Given the description of an element on the screen output the (x, y) to click on. 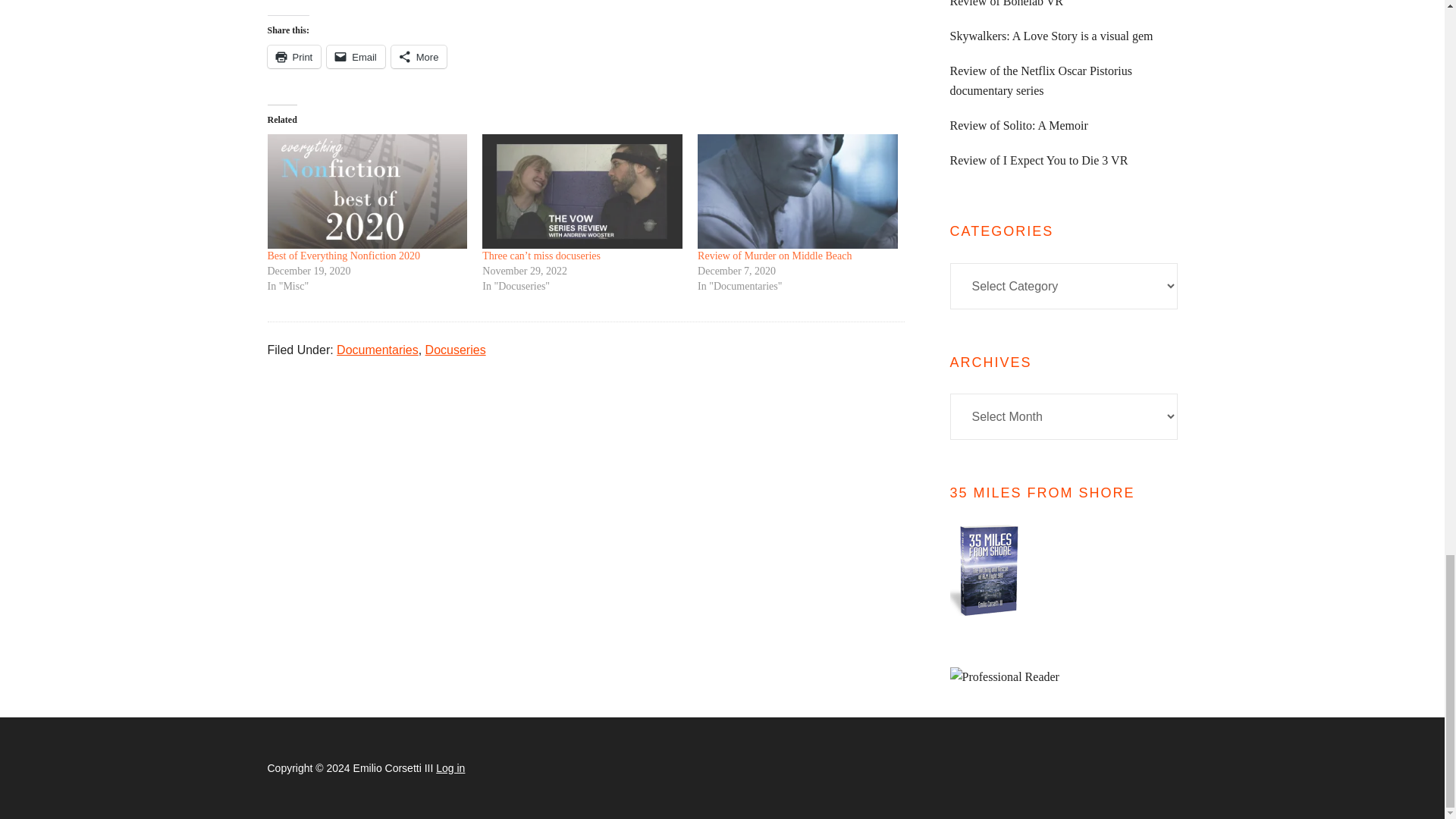
Best of Everything Nonfiction 2020 (342, 255)
Best of Everything Nonfiction 2020 (342, 255)
Click to print (293, 56)
Review of Murder on Middle Beach (774, 255)
Print (293, 56)
Email (355, 56)
Documentaries (377, 349)
Click to email a link to a friend (355, 56)
Best of Everything Nonfiction 2020 (366, 191)
More (418, 56)
